Given the description of an element on the screen output the (x, y) to click on. 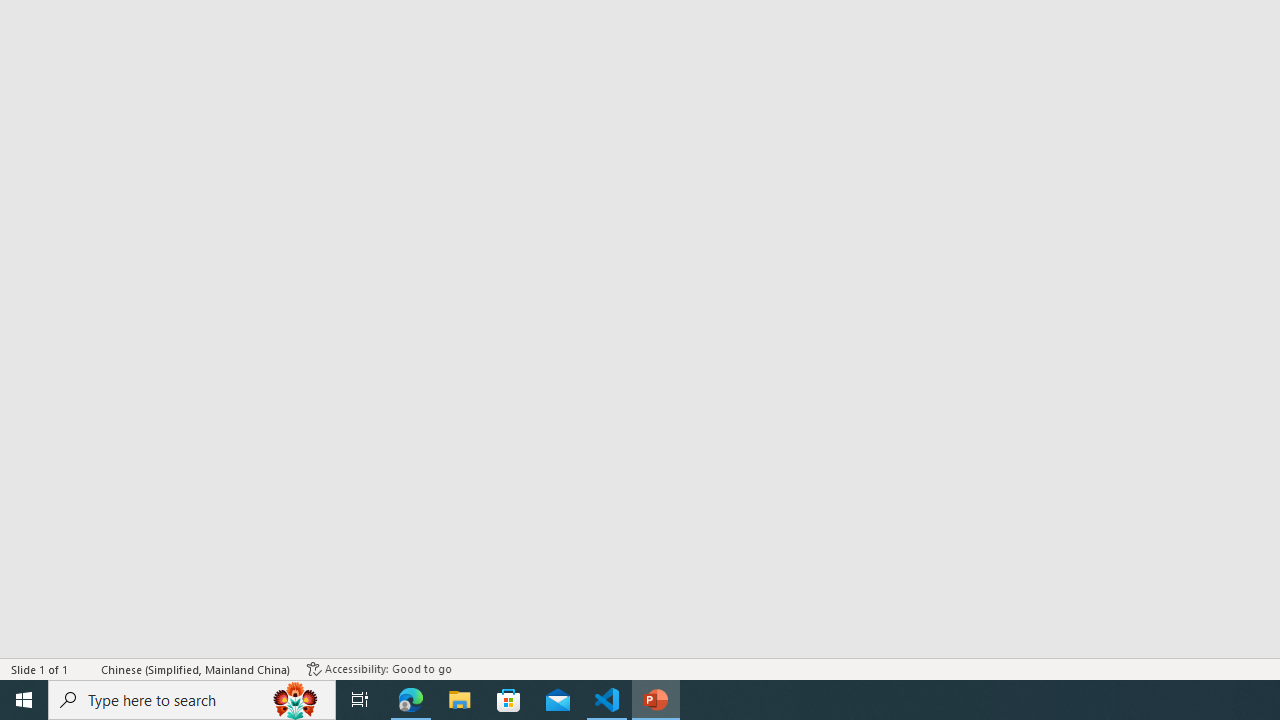
Accessibility Checker Accessibility: Good to go (379, 668)
Spell Check  (86, 668)
